Given the description of an element on the screen output the (x, y) to click on. 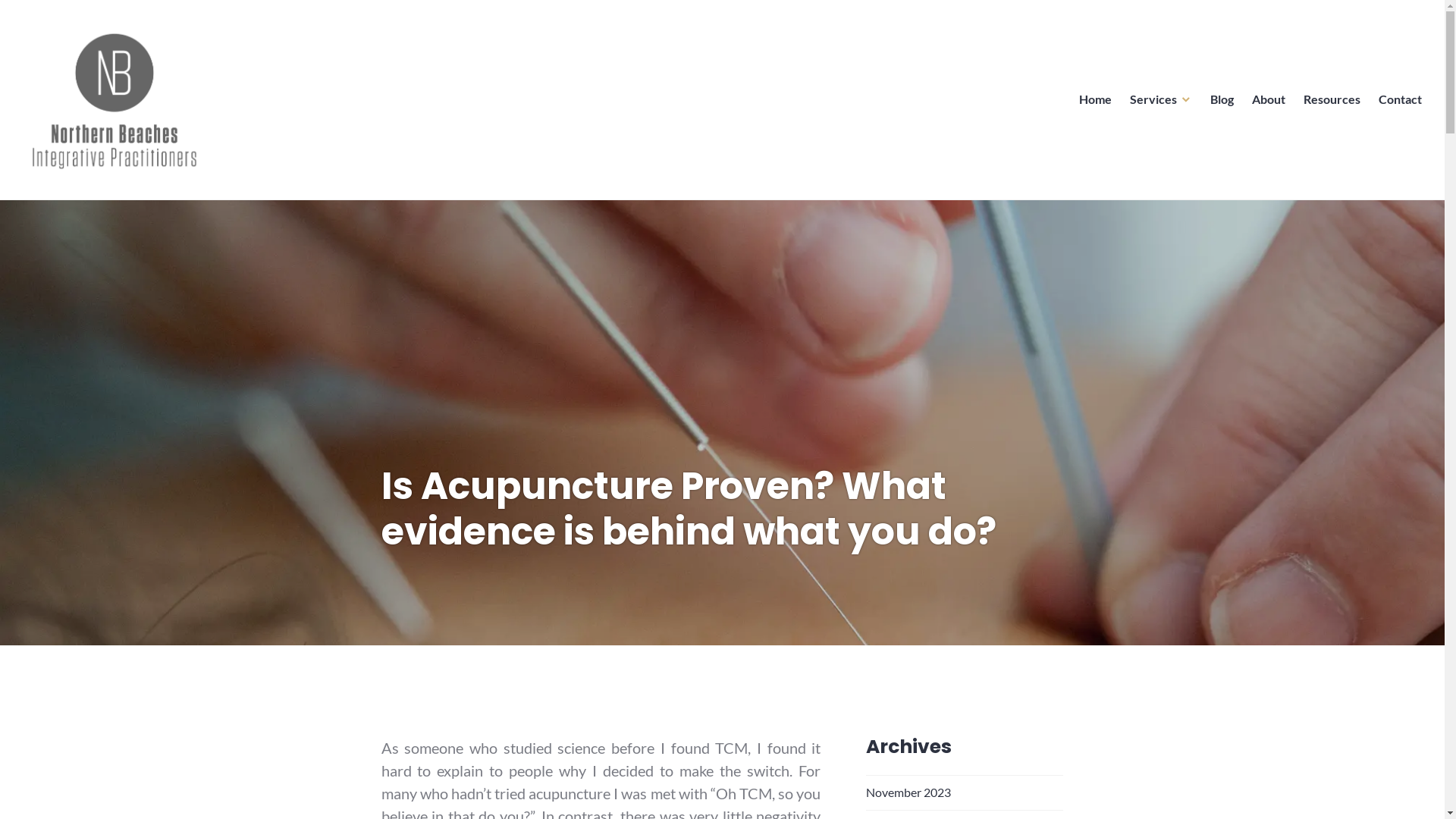
About Element type: text (1268, 99)
Services Element type: text (1160, 99)
Resources Element type: text (1331, 99)
Northern Beaches Integrative Practitioners Element type: text (234, 197)
Home Element type: text (1095, 99)
Contact Element type: text (1399, 99)
November 2023 Element type: text (908, 791)
Blog Element type: text (1221, 99)
